Given the description of an element on the screen output the (x, y) to click on. 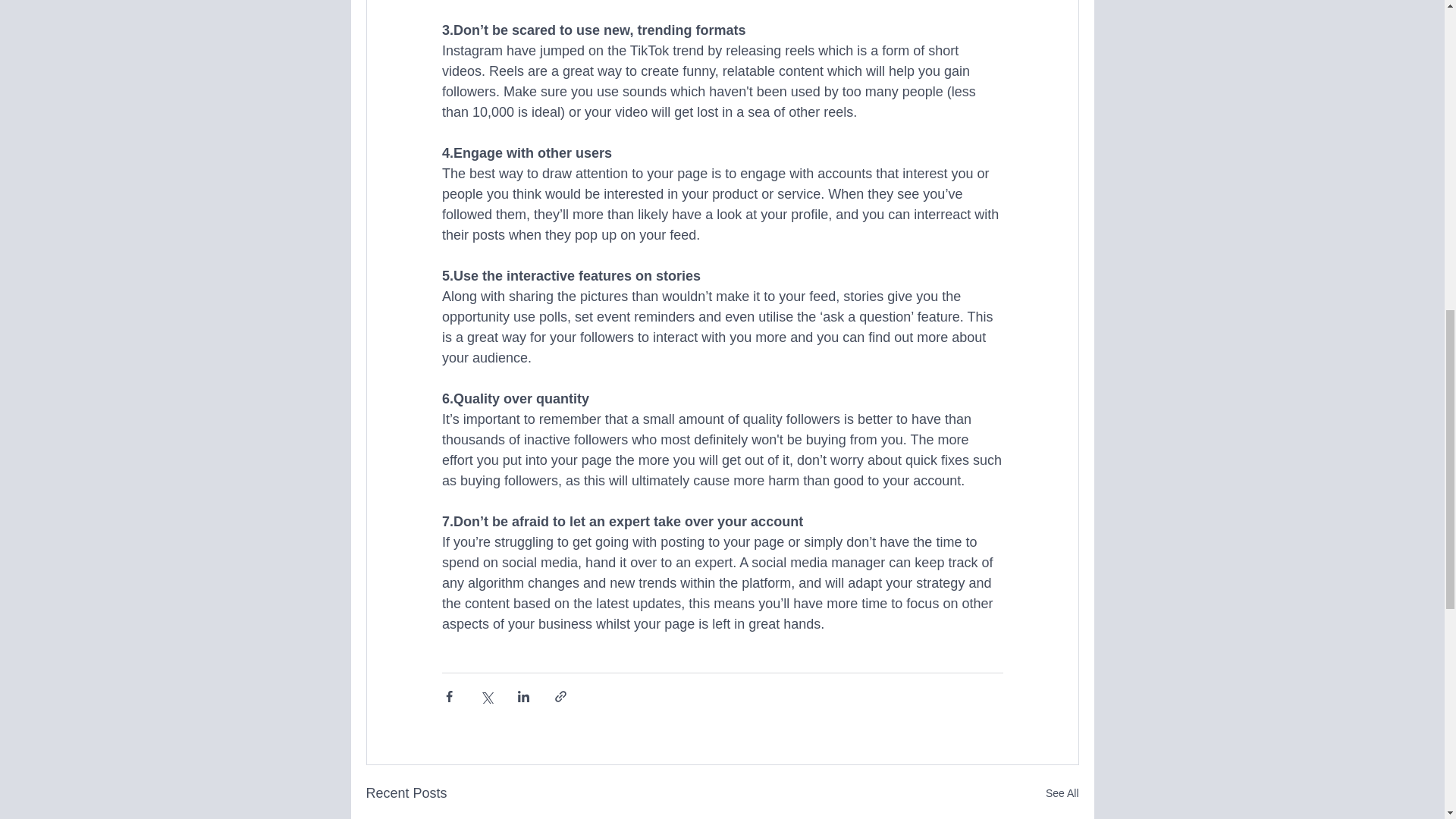
See All (1061, 793)
